Given the description of an element on the screen output the (x, y) to click on. 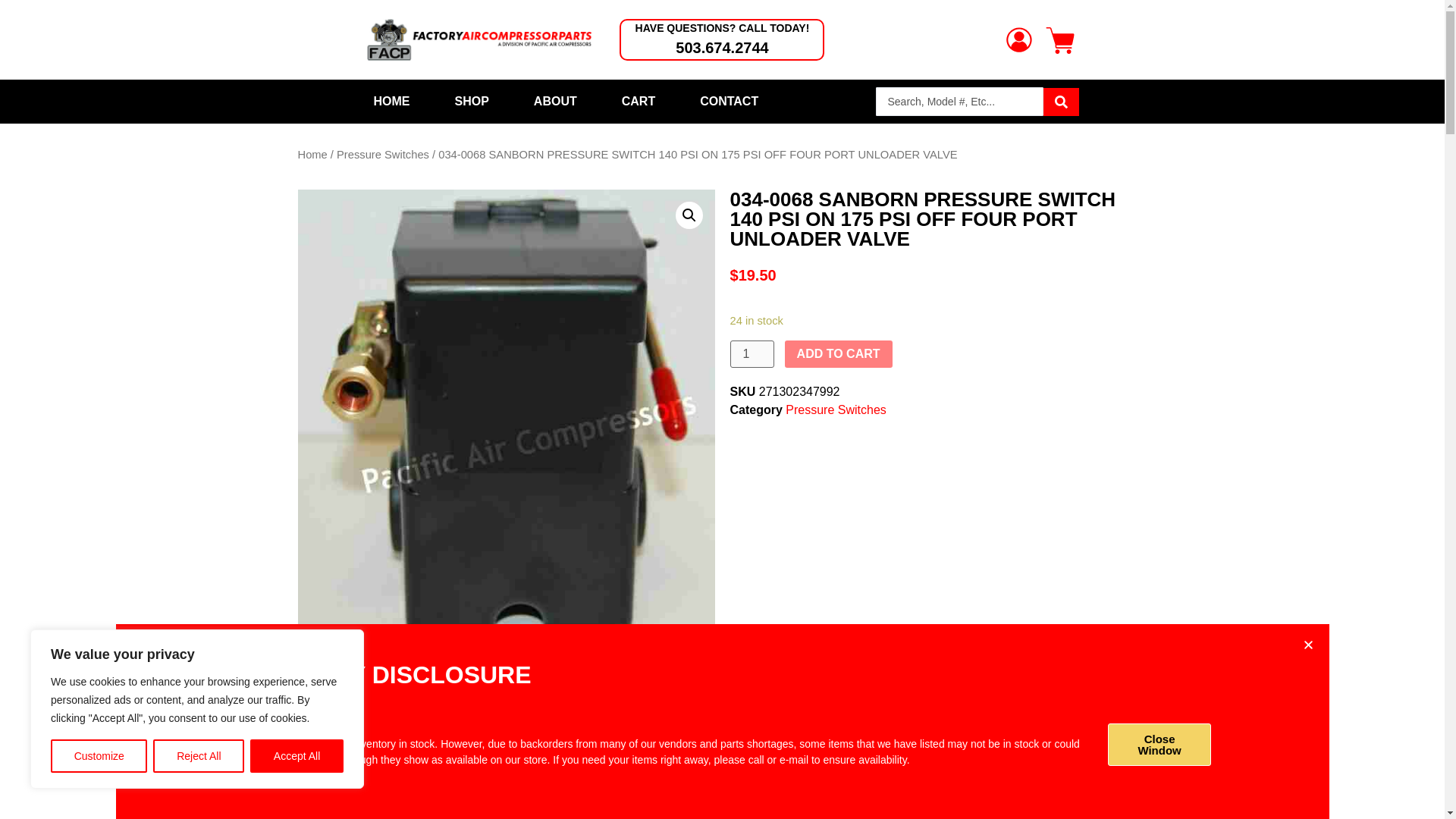
CONTACT (728, 101)
CART (638, 101)
Pressure Switches (382, 154)
Home (311, 154)
1 (751, 353)
SHOP (471, 101)
Reject All (198, 756)
503.674.2744 (721, 47)
Customize (98, 756)
ABOUT (555, 101)
HOME (391, 101)
Accept All (296, 756)
